Given the description of an element on the screen output the (x, y) to click on. 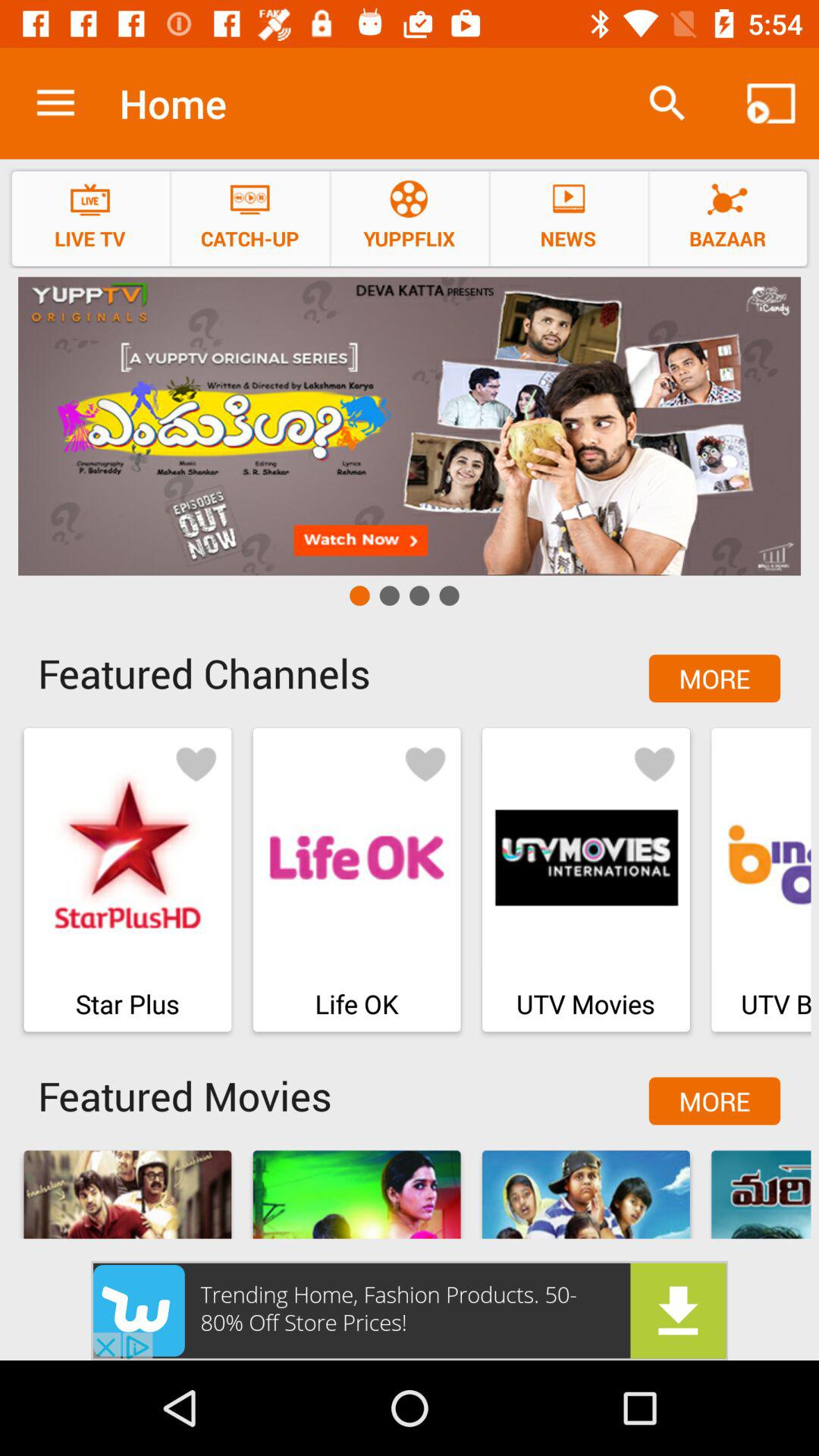
advertisement for yupp tv (409, 425)
